Given the description of an element on the screen output the (x, y) to click on. 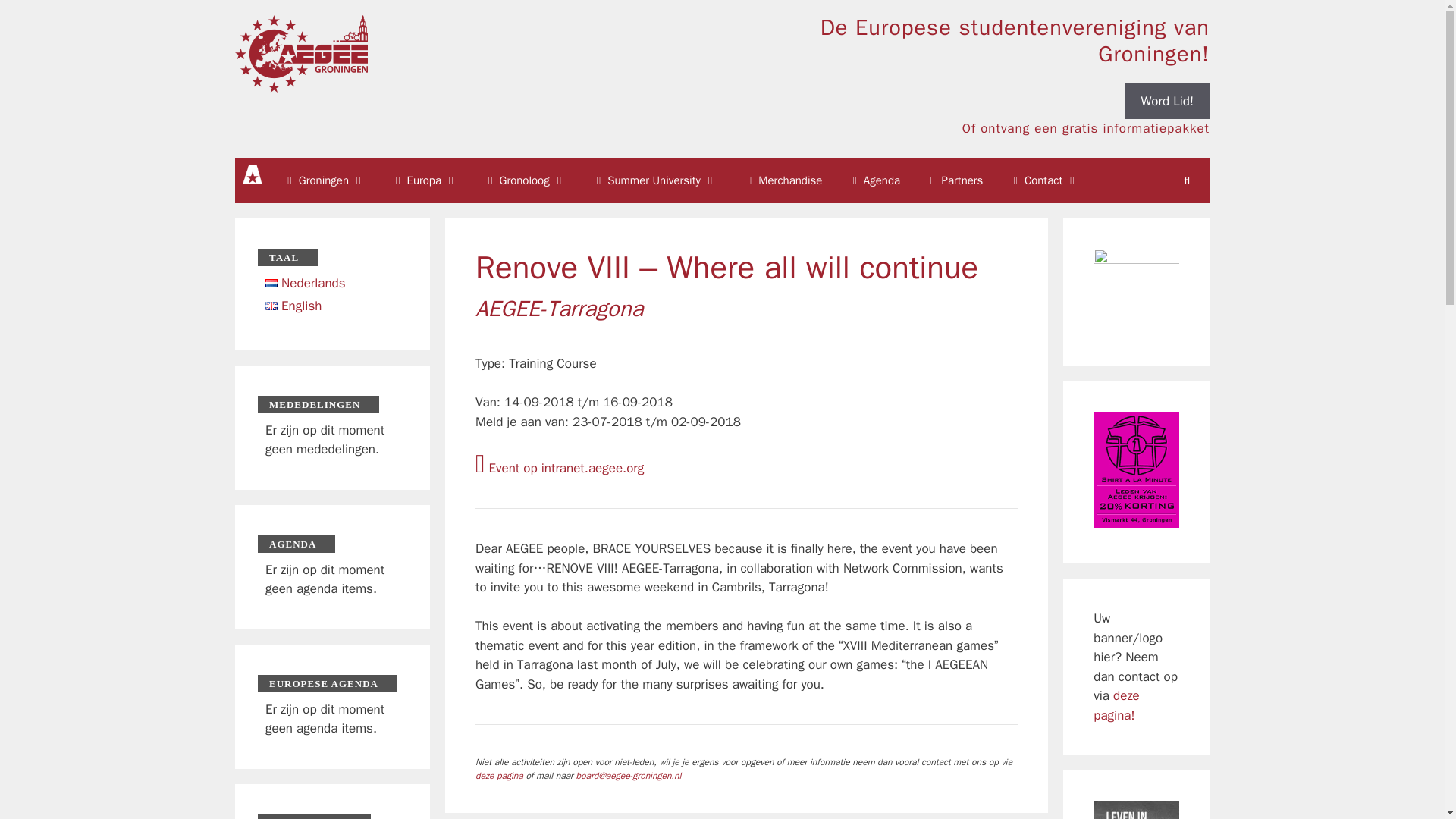
AEGEE-Groningen (253, 174)
  Groningen (326, 180)
AEGEE-Groningen (301, 53)
Word Lid! (1166, 100)
  Europa (426, 180)
Word Lid! (1166, 101)
AEGEE-Groningen (301, 52)
